Given the description of an element on the screen output the (x, y) to click on. 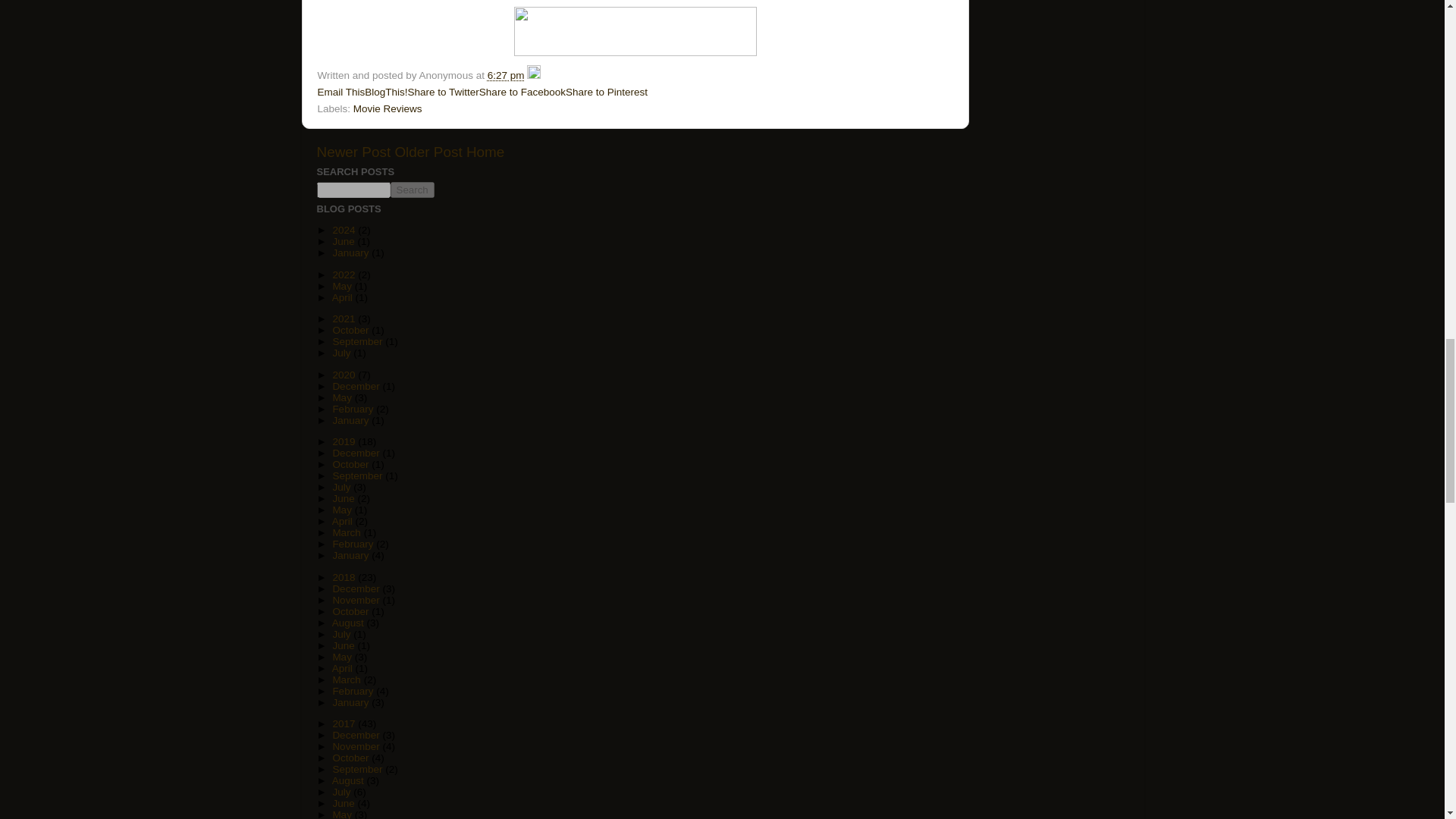
Newer Post (354, 151)
Share to Facebook (522, 91)
2022 (344, 274)
April (343, 297)
Search (411, 189)
Share to Pinterest (606, 91)
BlogThis! (386, 91)
Newer Post (354, 151)
Older Post (427, 151)
Share to Twitter (443, 91)
Share to Twitter (443, 91)
Older Post (427, 151)
May (342, 285)
Home (484, 151)
October (351, 329)
